Given the description of an element on the screen output the (x, y) to click on. 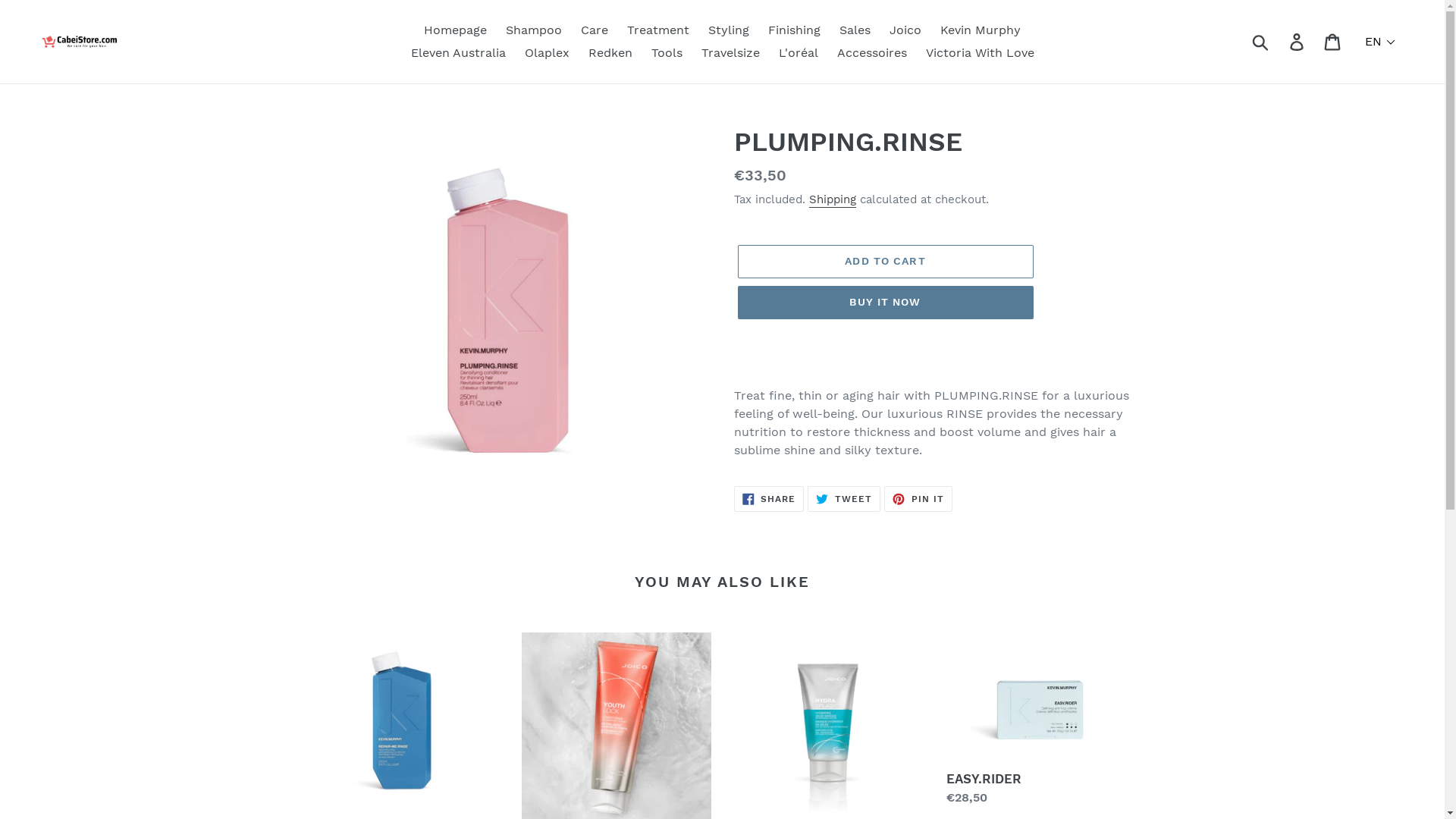
EASY.RIDER Element type: text (1040, 719)
Shipping Element type: text (831, 199)
PIN IT
PIN ON PINTEREST Element type: text (918, 498)
Victoria With Love Element type: text (979, 52)
Joico Element type: text (904, 29)
BUY IT NOW Element type: text (884, 302)
SHARE
SHARE ON FACEBOOK Element type: text (769, 498)
Log in Element type: text (1297, 42)
Redken Element type: text (610, 52)
Sales Element type: text (854, 29)
Tools Element type: text (666, 52)
Shampoo Element type: text (533, 29)
Cart Element type: text (1333, 42)
Finishing Element type: text (794, 29)
Treatment Element type: text (657, 29)
Care Element type: text (594, 29)
TWEET
TWEET ON TWITTER Element type: text (843, 498)
Styling Element type: text (728, 29)
Travelsize Element type: text (729, 52)
Olaplex Element type: text (547, 52)
Kevin Murphy Element type: text (980, 29)
Accessoires Element type: text (871, 52)
ADD TO CART Element type: text (884, 261)
Homepage Element type: text (455, 29)
Submit Element type: text (1261, 41)
Eleven Australia Element type: text (458, 52)
